Given the description of an element on the screen output the (x, y) to click on. 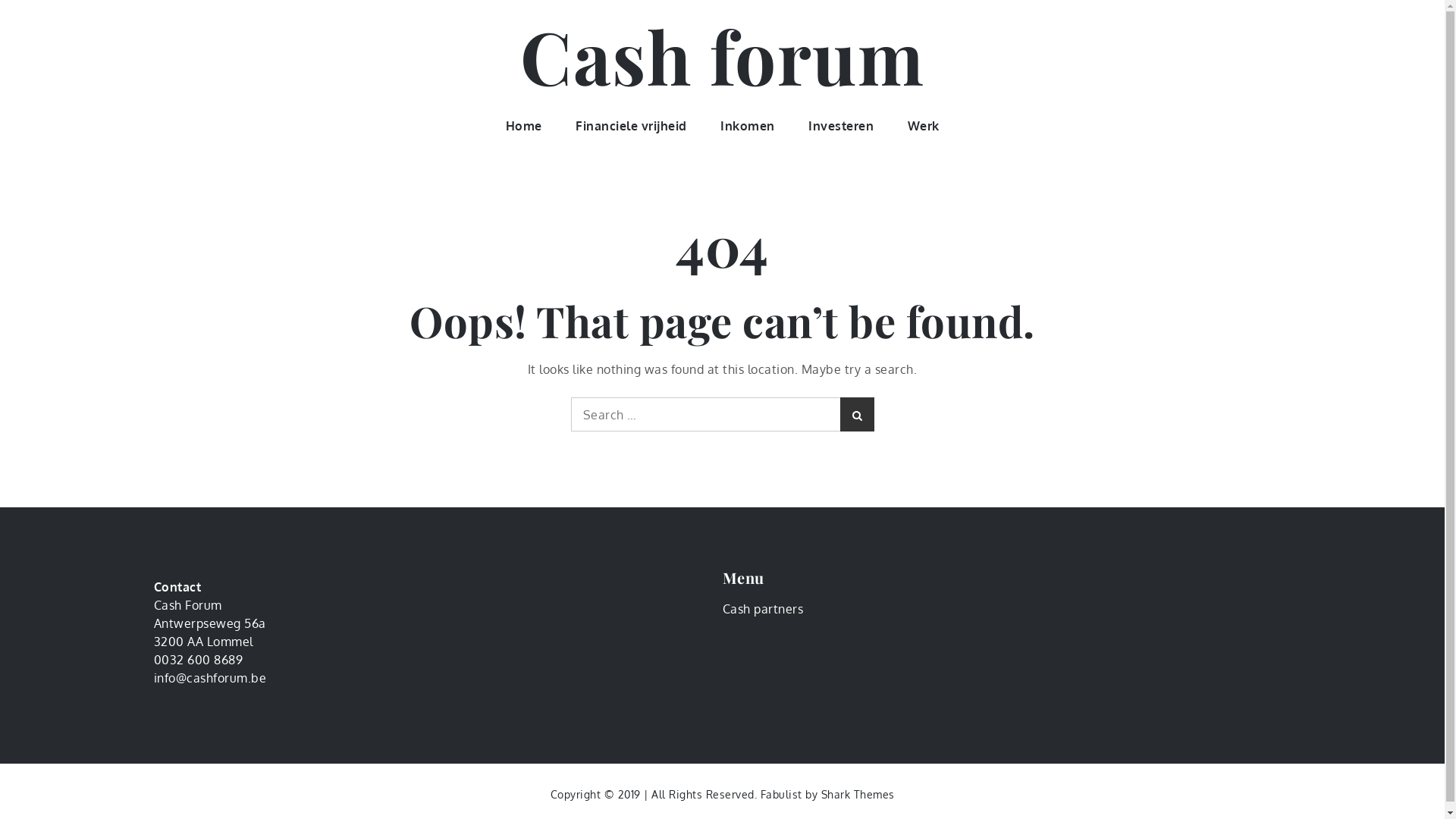
Inkomen Element type: text (747, 125)
Investeren Element type: text (840, 125)
Search Element type: text (857, 414)
Shark Themes Element type: text (857, 793)
Cash partners Element type: text (762, 608)
Werk Element type: text (922, 125)
Home Element type: text (522, 125)
Cash forum Element type: text (722, 54)
Financiele vrijheid Element type: text (631, 125)
